Given the description of an element on the screen output the (x, y) to click on. 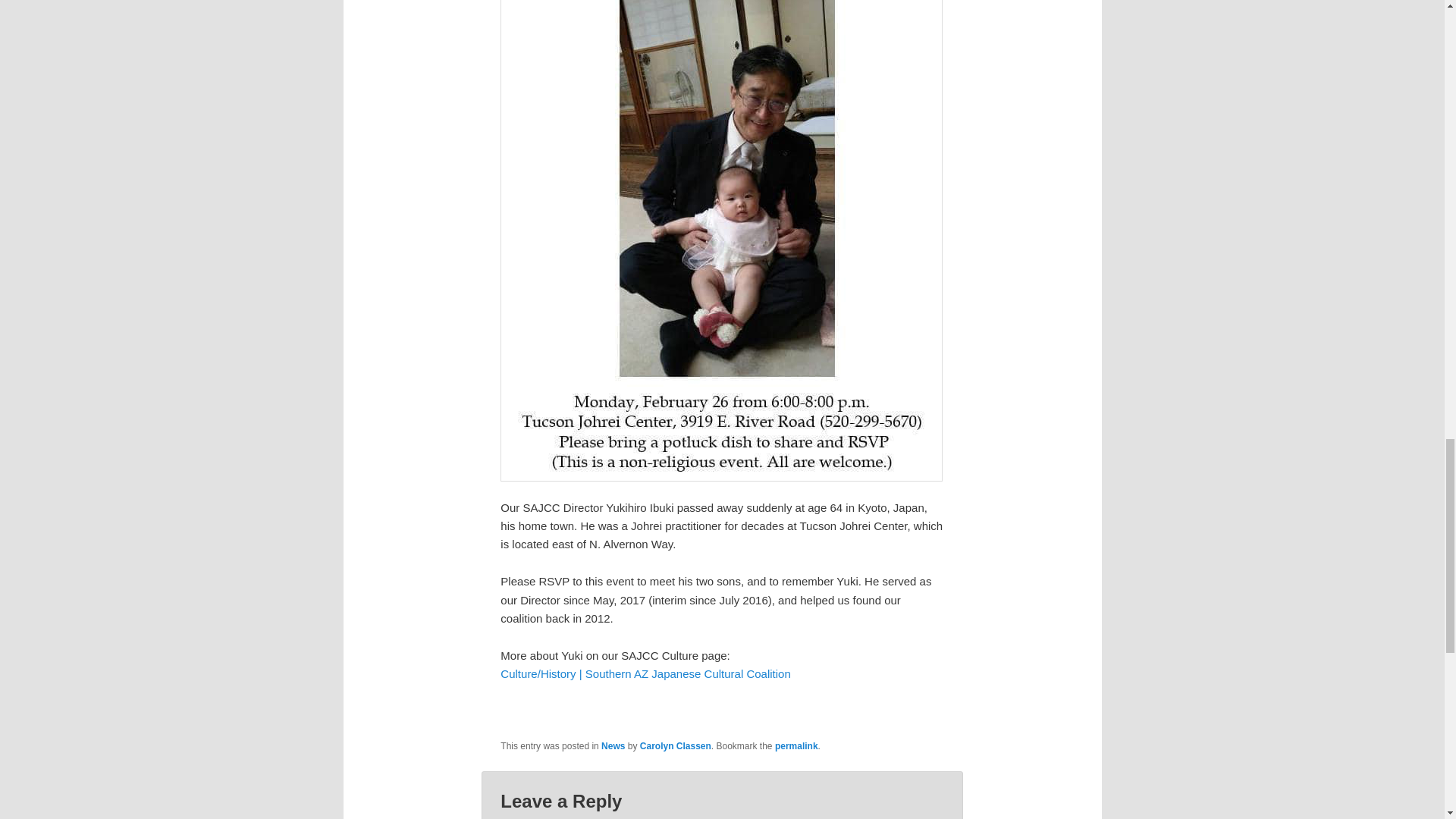
permalink (796, 746)
Carolyn Classen (675, 746)
News (612, 746)
